Given the description of an element on the screen output the (x, y) to click on. 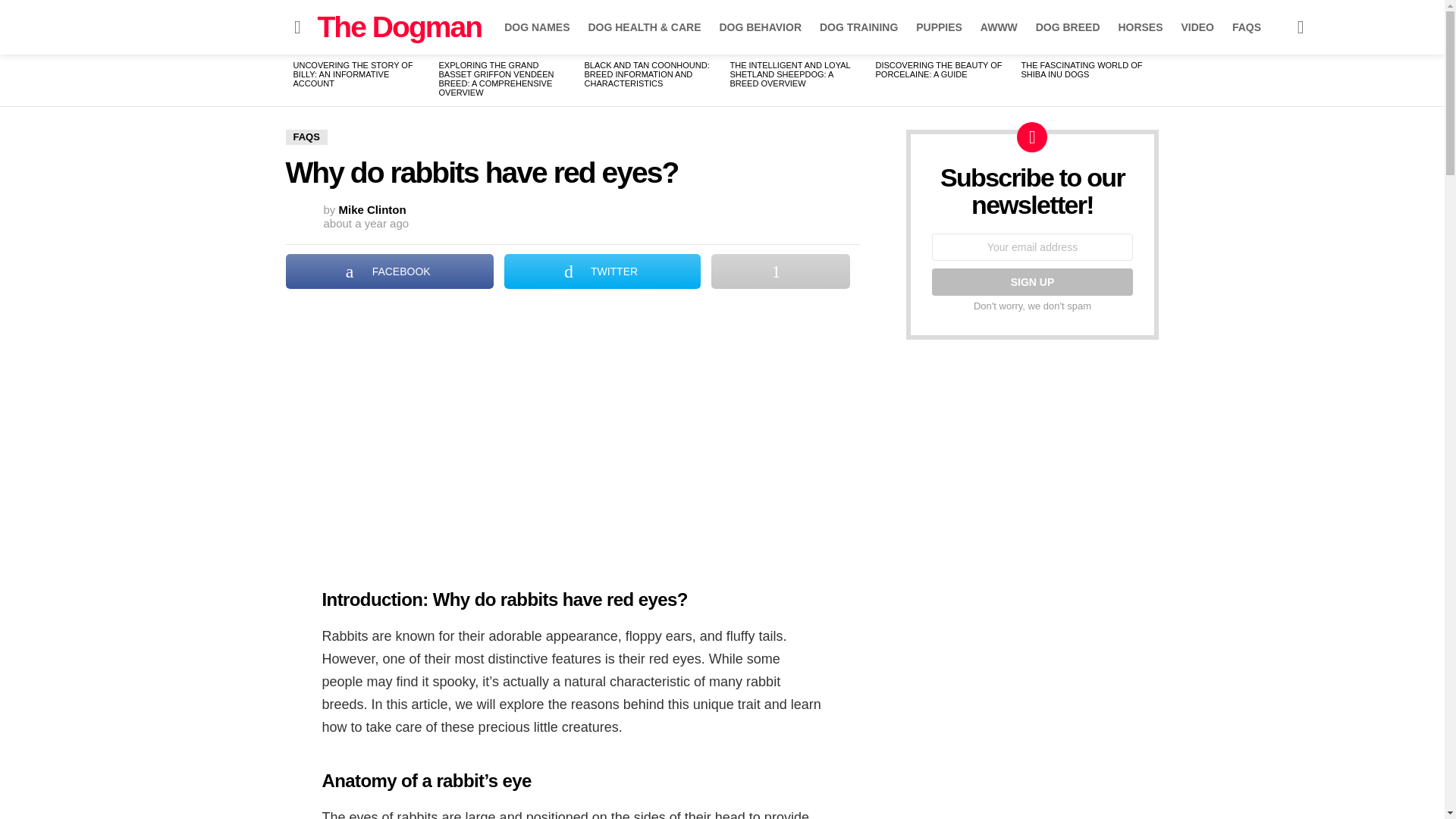
The Dogman (399, 26)
HORSES (1139, 26)
DOG TRAINING (858, 26)
FAQS (1246, 26)
Sign up (1031, 281)
THE FASCINATING WORLD OF SHIBA INU DOGS (1080, 69)
Mike Clinton (372, 209)
Share on Twitter (601, 271)
Advertisement (572, 428)
